Given the description of an element on the screen output the (x, y) to click on. 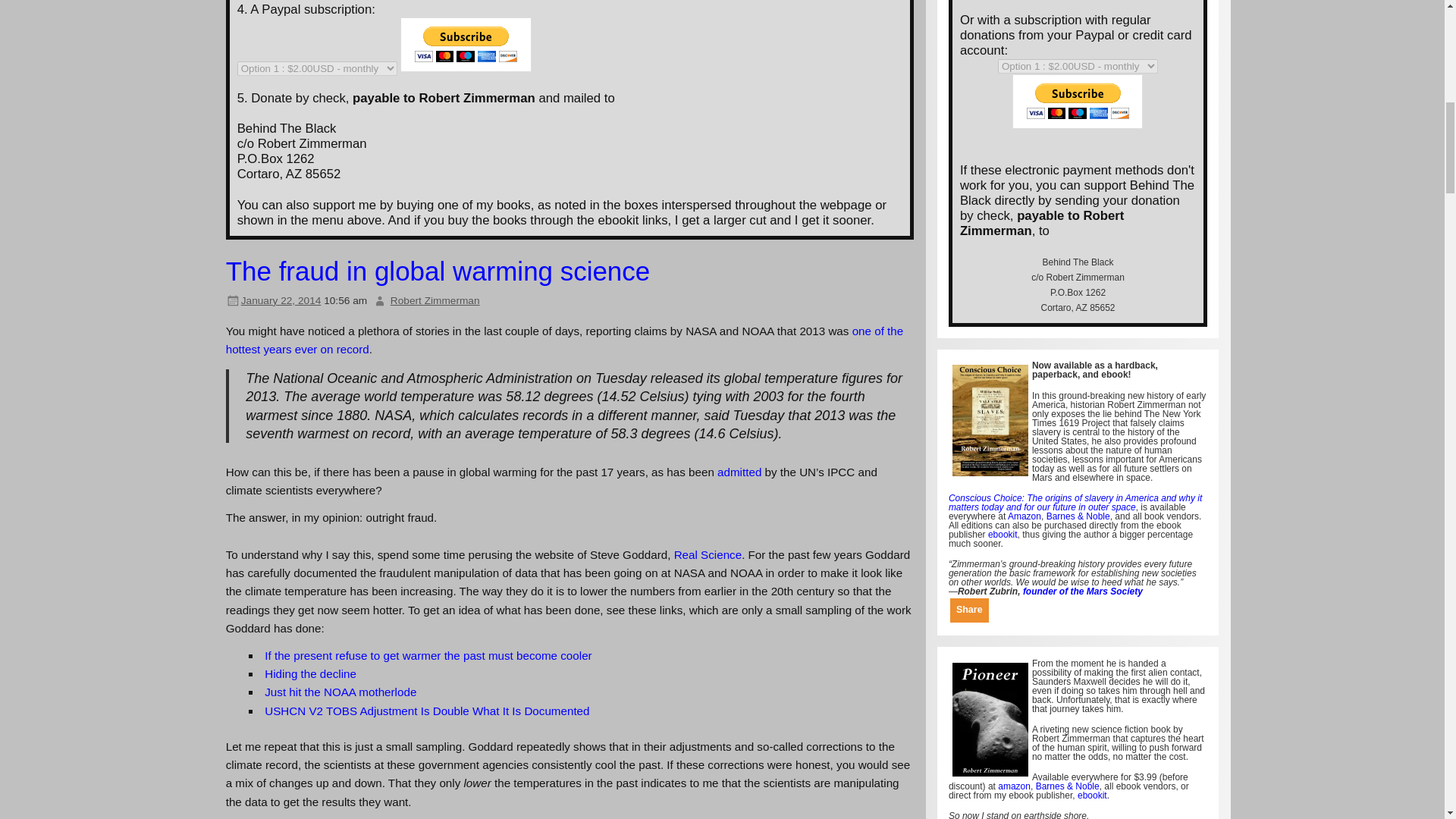
Robert Zimmerman (435, 300)
one of the hottest years ever on record (564, 339)
More (969, 610)
View all posts by Robert Zimmerman (435, 300)
10:56 am (281, 300)
The fraud in global warming science (437, 270)
January 22, 2014 (281, 300)
